Given the description of an element on the screen output the (x, y) to click on. 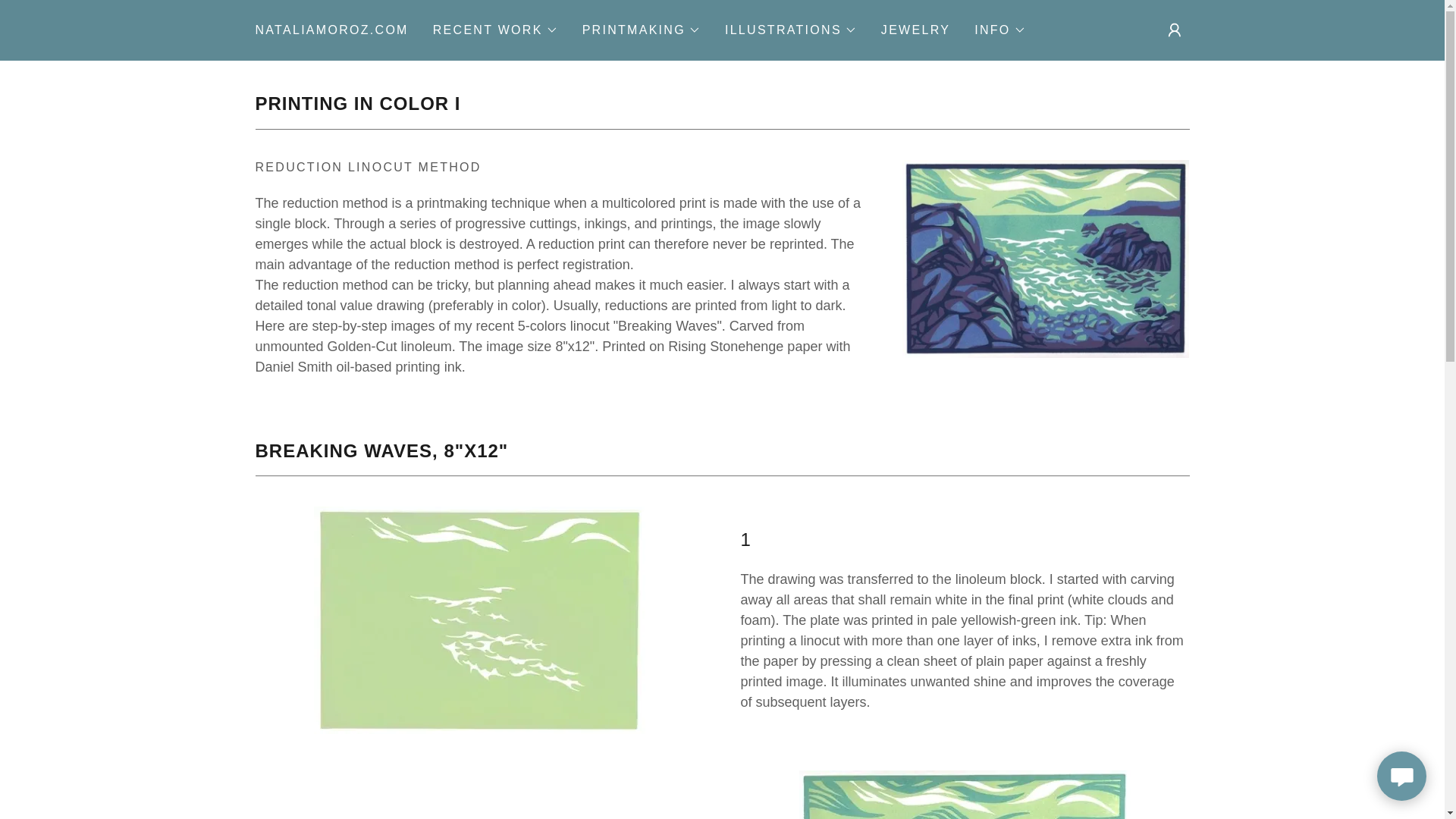
JEWELRY (915, 30)
INFO (999, 30)
PRINTMAKING (641, 30)
NATALIAMOROZ.COM (331, 30)
RECENT WORK (494, 30)
ILLUSTRATIONS (791, 30)
